Given the description of an element on the screen output the (x, y) to click on. 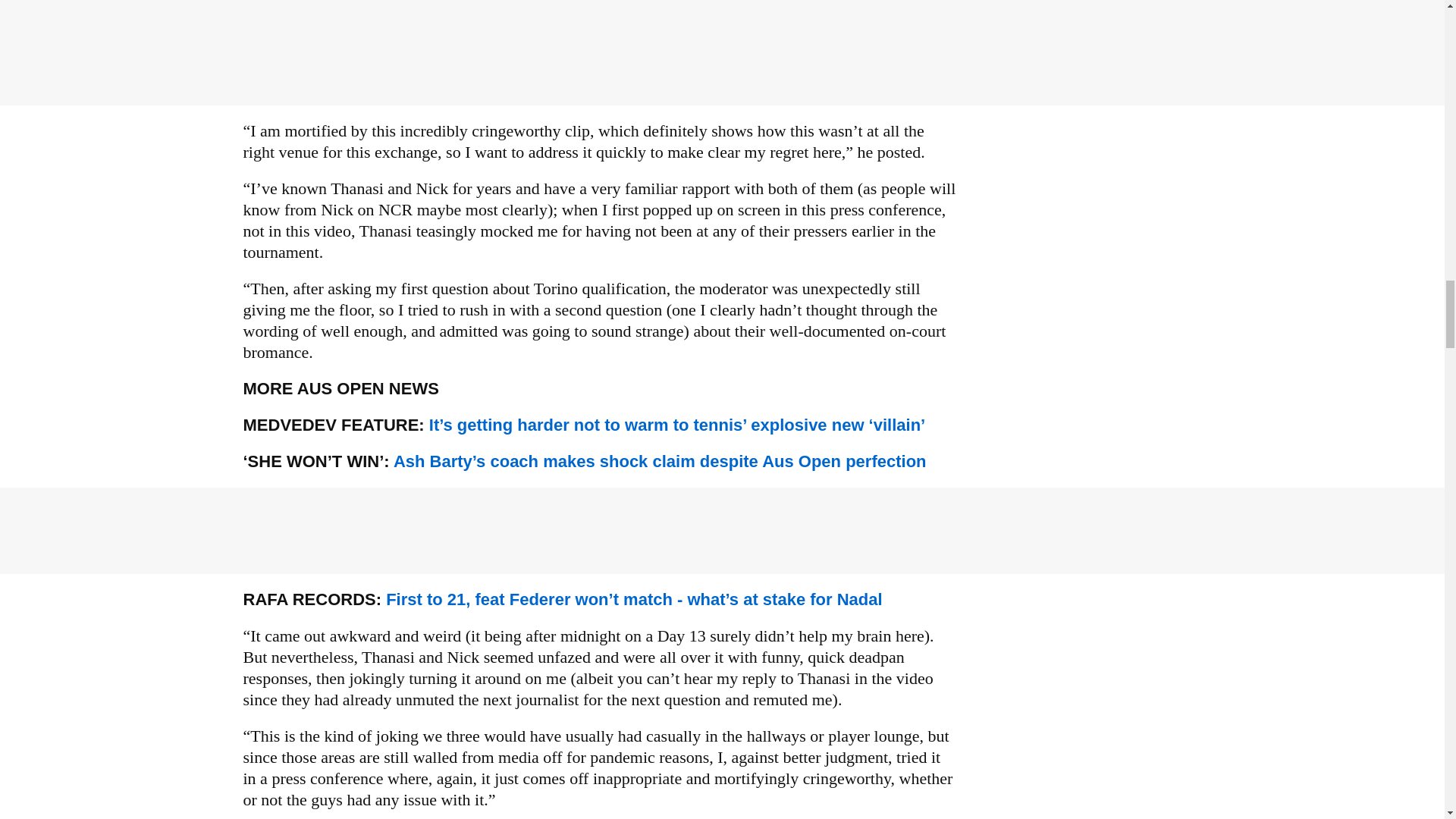
www.foxsports.com.au (676, 424)
www.foxsports.com.au (633, 599)
www.foxsports.com.au (659, 461)
